Given the description of an element on the screen output the (x, y) to click on. 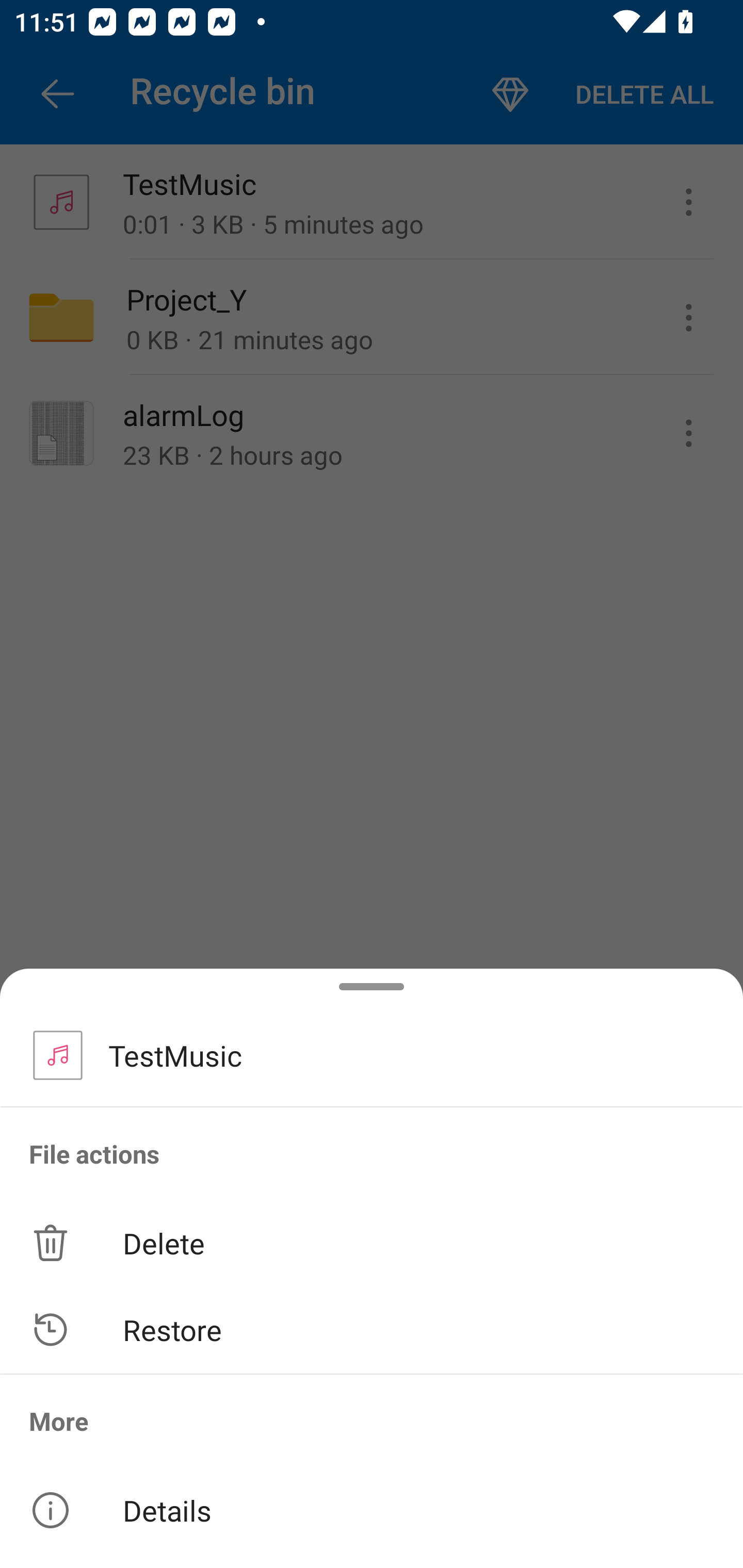
Delete button Delete (371, 1242)
Restore button Restore (371, 1329)
Details button Details (371, 1510)
